Given the description of an element on the screen output the (x, y) to click on. 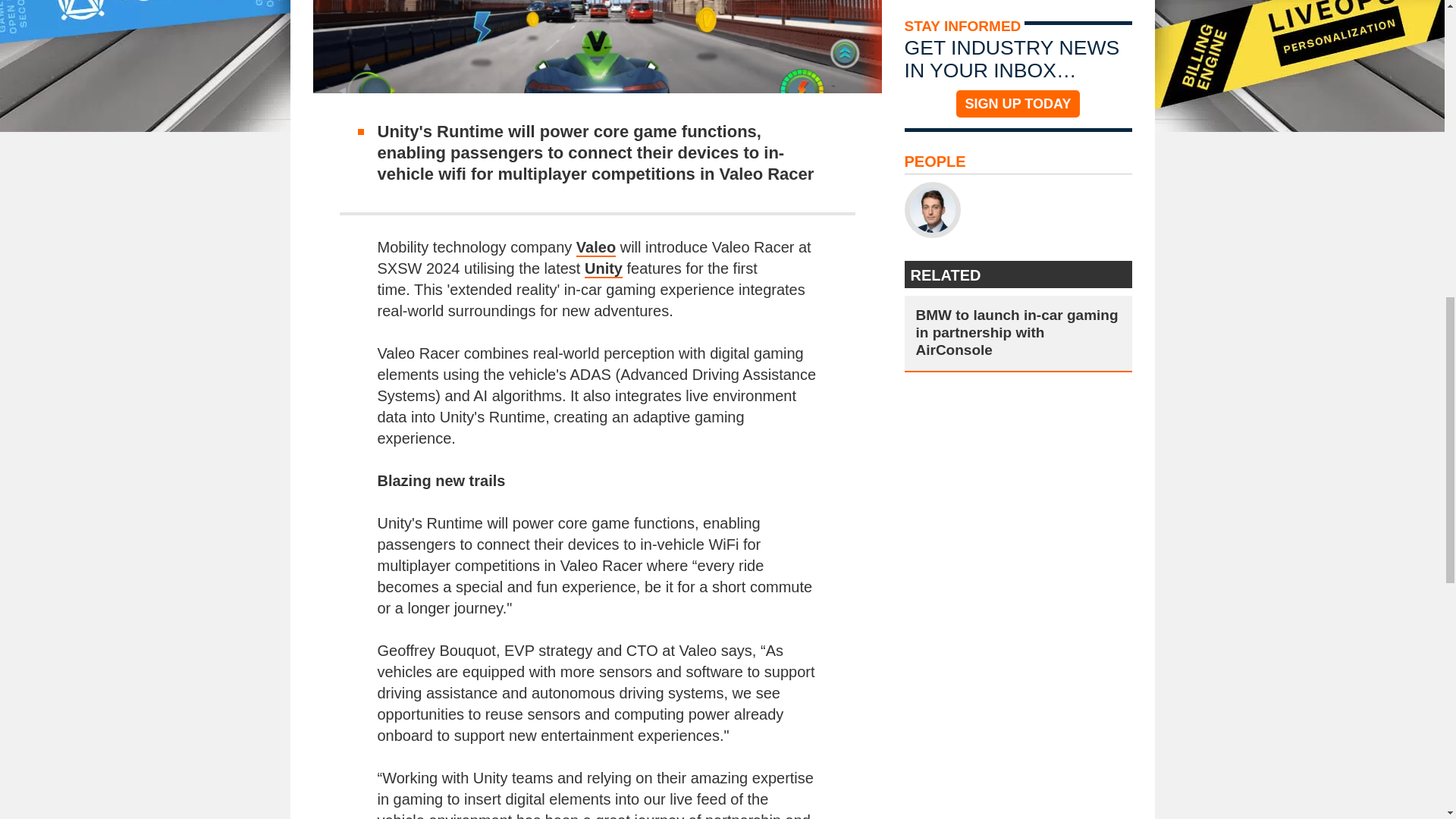
Unity (604, 269)
Valeo (595, 248)
BMW to launch in-car gaming in partnership with AirConsole (1017, 332)
